Given the description of an element on the screen output the (x, y) to click on. 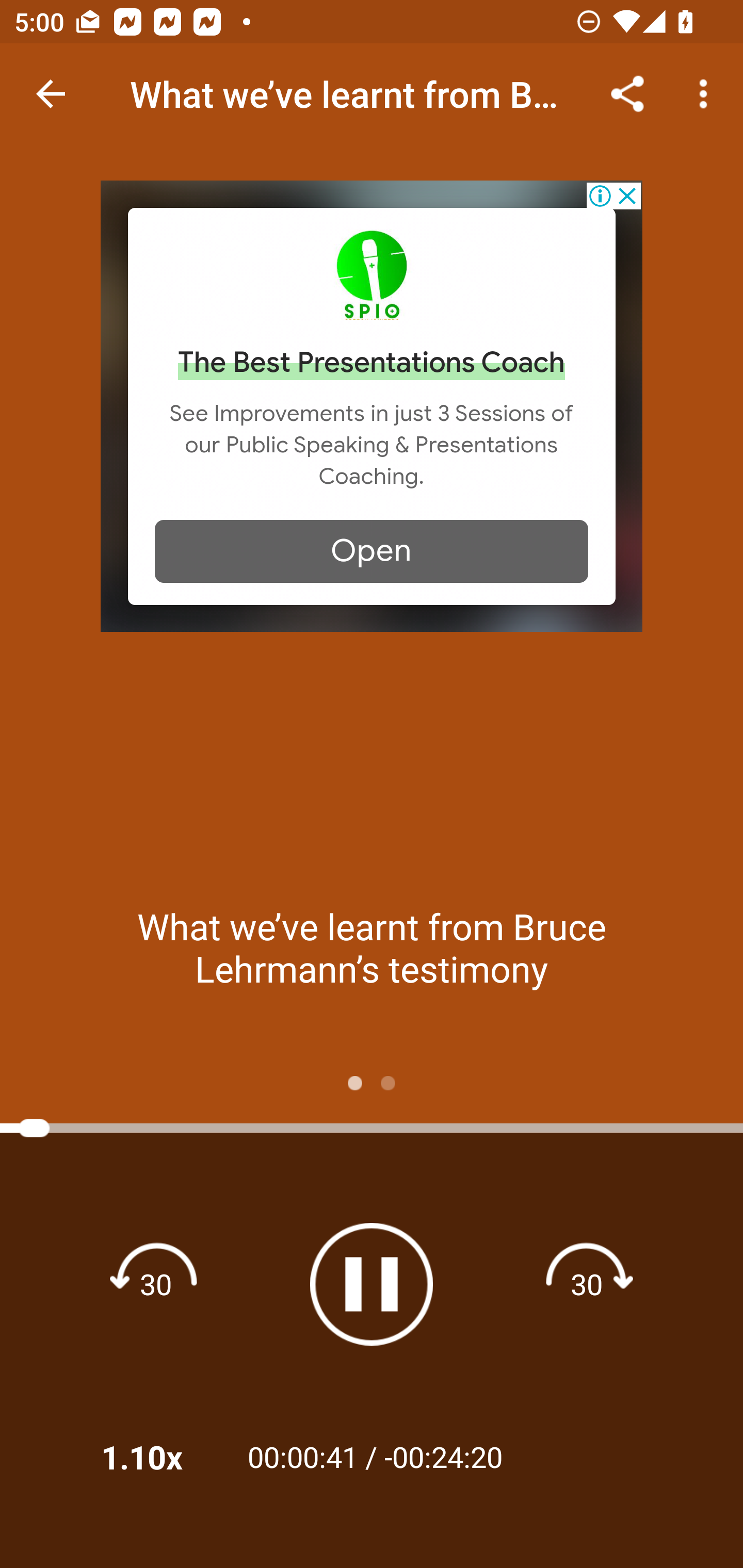
Navigate up (50, 93)
Share... (626, 93)
More options (706, 93)
www.spio (371, 274)
The Best Presentations Coach (371, 362)
Open (371, 550)
Pause (371, 1284)
Rewind (155, 1282)
Fast forward (586, 1282)
1.10x Playback Speeds (158, 1456)
-00:24:20 (443, 1455)
